Given the description of an element on the screen output the (x, y) to click on. 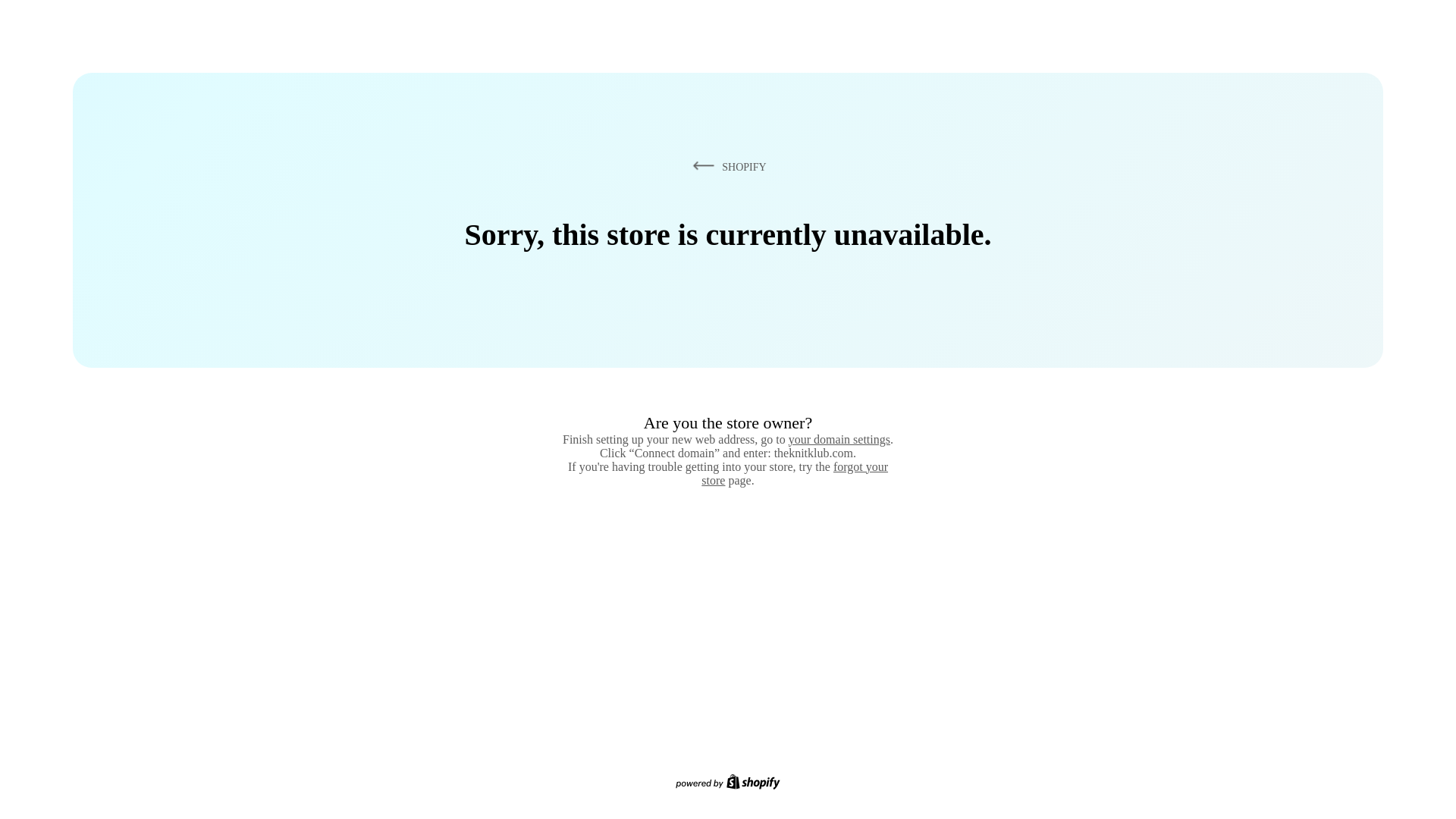
SHOPIFY (726, 166)
forgot your store (794, 473)
your domain settings (839, 439)
